Given the description of an element on the screen output the (x, y) to click on. 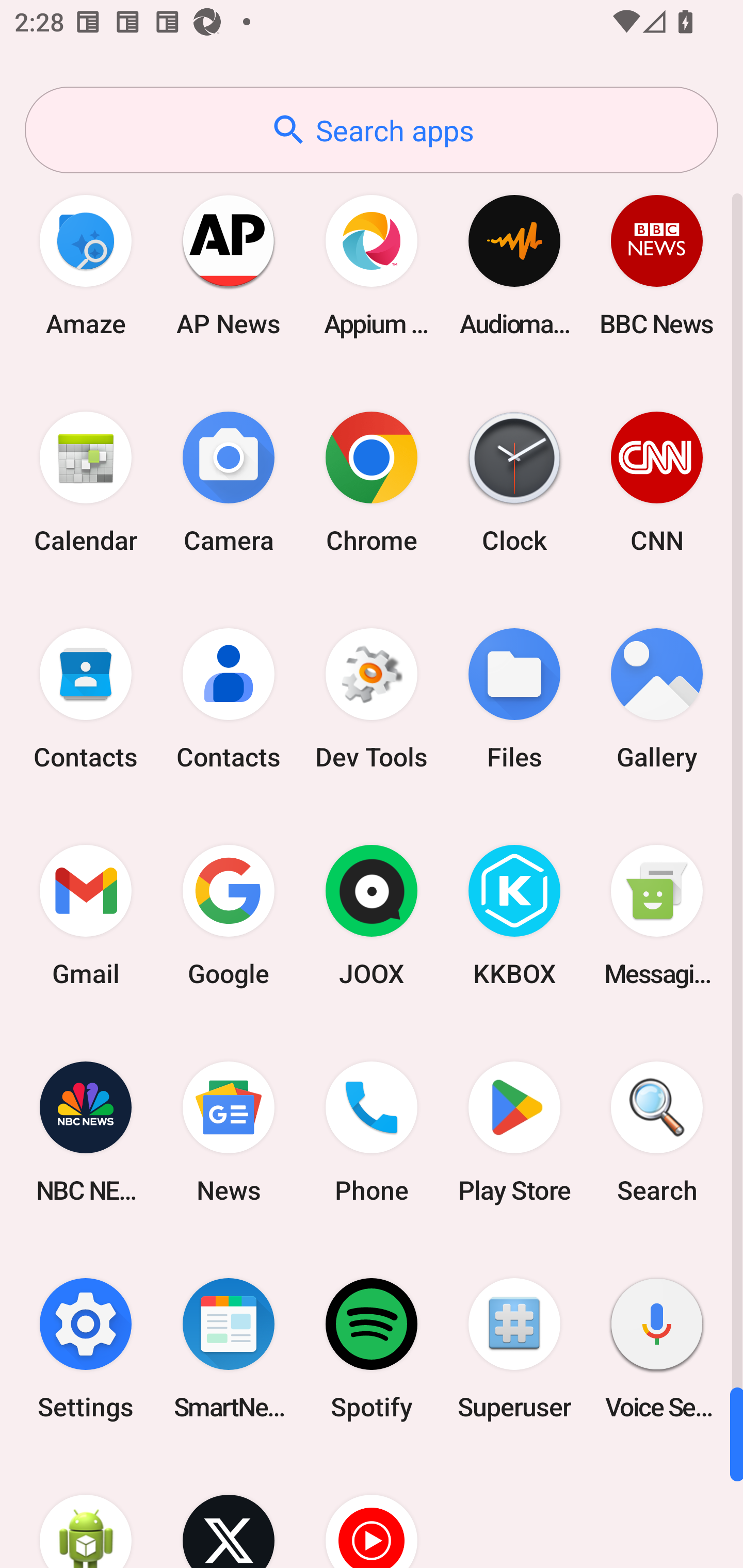
  Search apps (371, 130)
Amaze (85, 264)
AP News (228, 264)
Appium Settings (371, 264)
Audio­mack (514, 264)
BBC News (656, 264)
Calendar (85, 482)
Camera (228, 482)
Chrome (371, 482)
Clock (514, 482)
CNN (656, 482)
Contacts (85, 699)
Contacts (228, 699)
Dev Tools (371, 699)
Files (514, 699)
Gallery (656, 699)
Gmail (85, 915)
Google (228, 915)
JOOX (371, 915)
KKBOX (514, 915)
Messaging (656, 915)
NBC NEWS (85, 1131)
News (228, 1131)
Phone (371, 1131)
Play Store (514, 1131)
Search (656, 1131)
Settings (85, 1348)
SmartNews (228, 1348)
Spotify (371, 1348)
Superuser (514, 1348)
Voice Search (656, 1348)
WebView Browser Tester (85, 1512)
X (228, 1512)
YT Music (371, 1512)
